Given the description of an element on the screen output the (x, y) to click on. 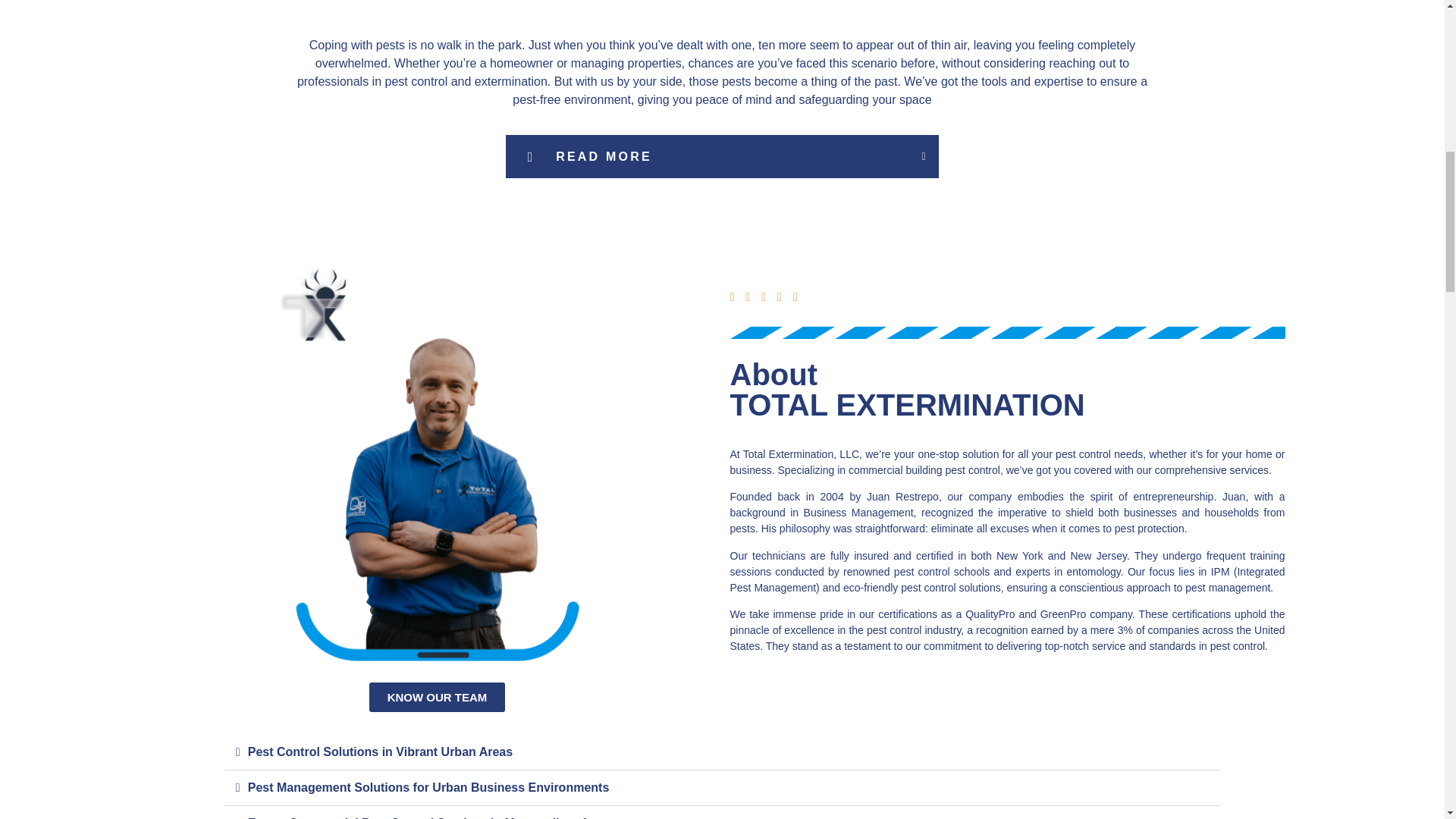
Pest Control Solutions in Vibrant Urban Areas (379, 751)
Pest Management Solutions for Urban Business Environments (428, 787)
KNOW OUR TEAM (437, 696)
